Given the description of an element on the screen output the (x, y) to click on. 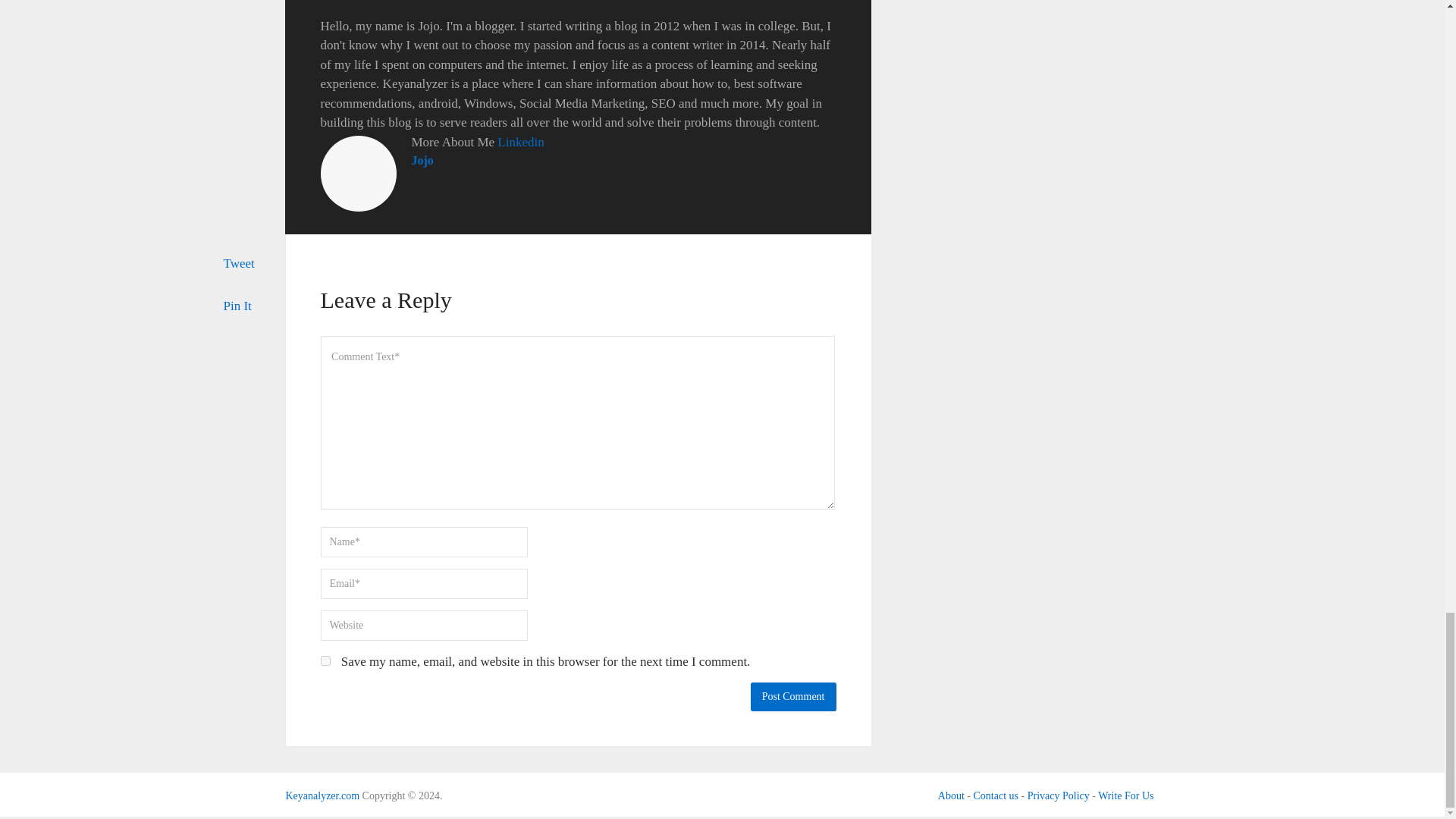
yes (325, 660)
Jojo (421, 160)
Post Comment (793, 696)
Linkedin (520, 142)
Post Comment (793, 696)
